Given the description of an element on the screen output the (x, y) to click on. 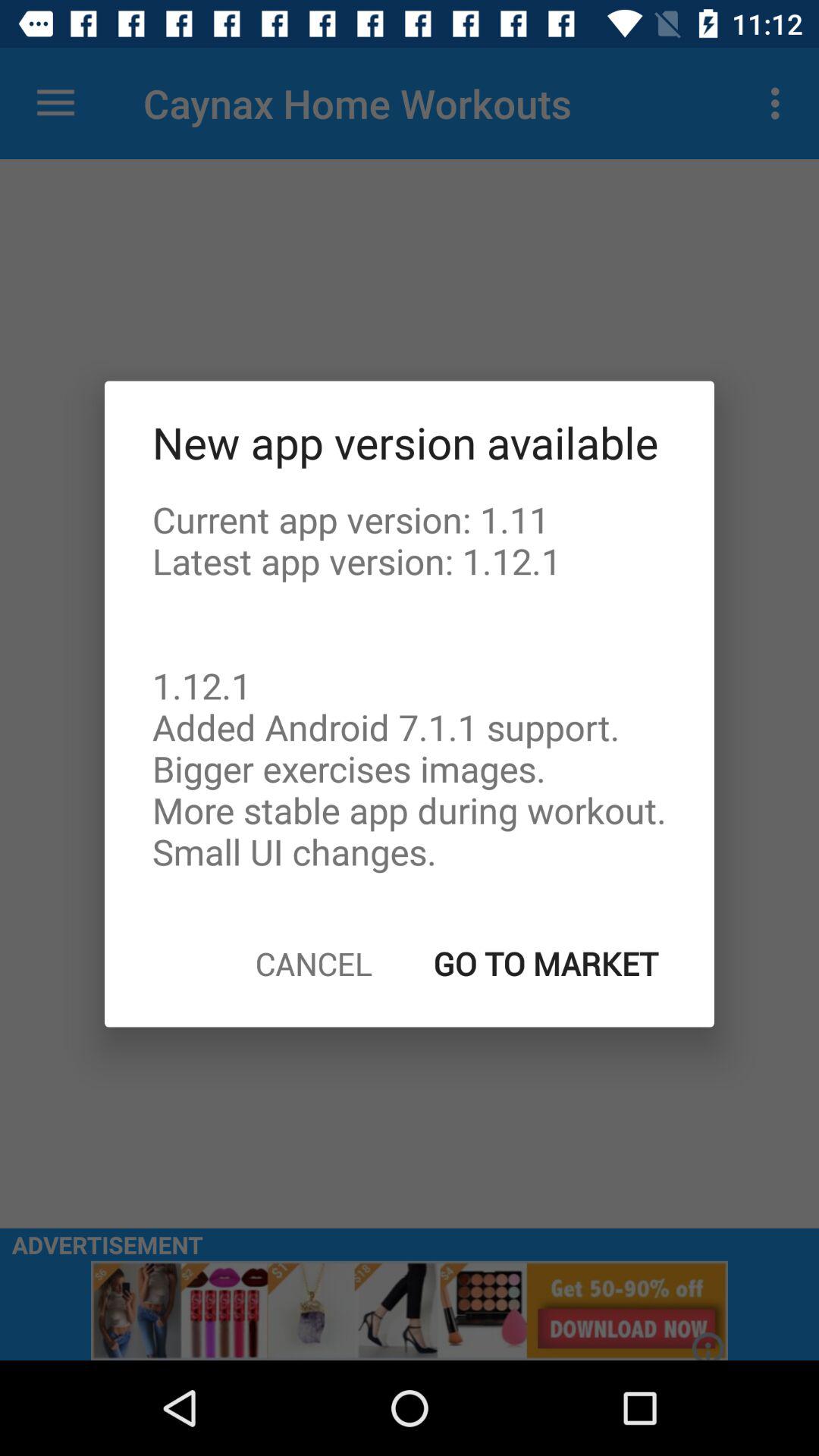
tap the item below current app version icon (545, 963)
